Given the description of an element on the screen output the (x, y) to click on. 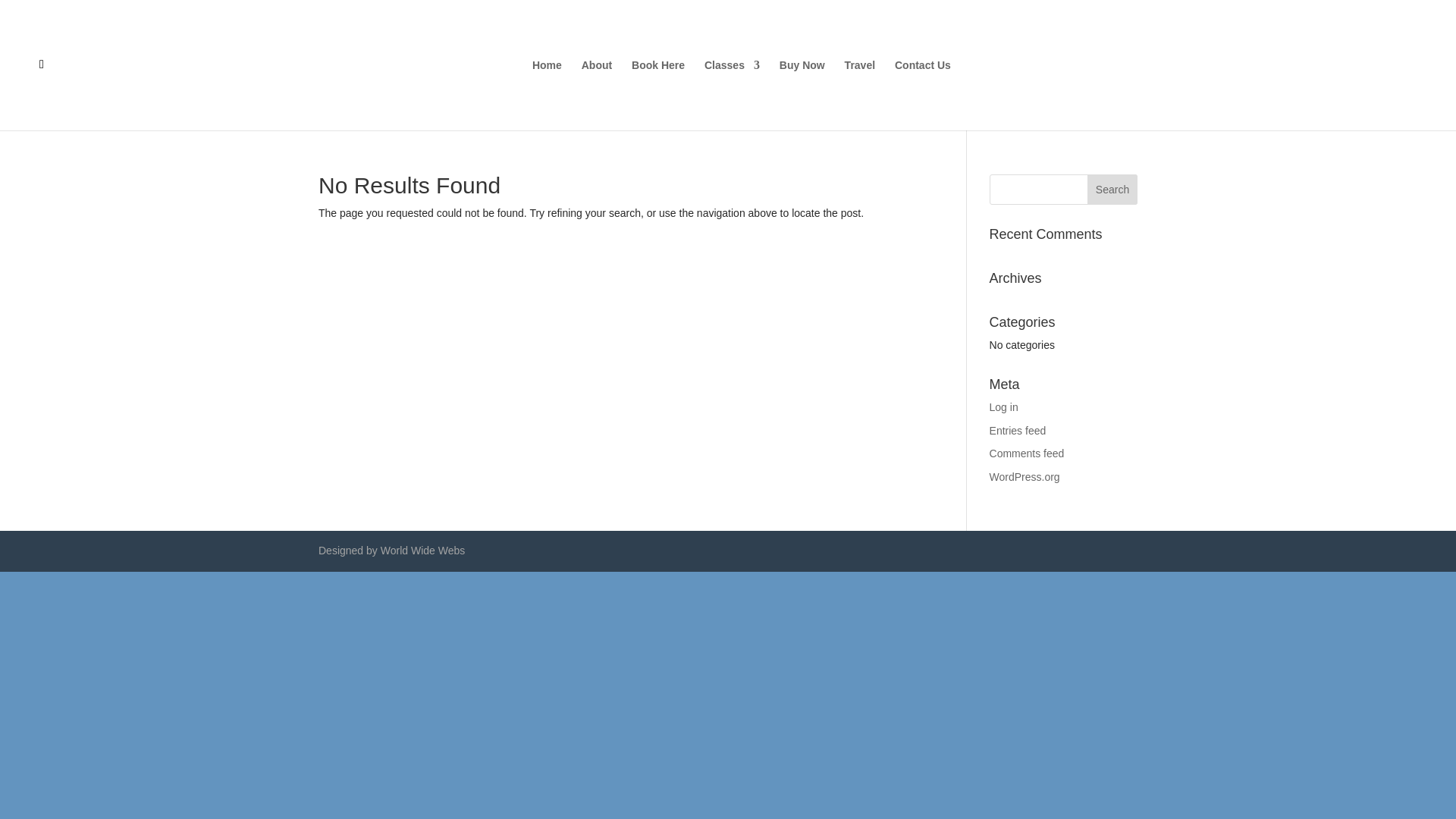
Search (1112, 189)
WordPress.org (1024, 476)
Entries feed (1018, 430)
Search (1112, 189)
Comments feed (1027, 453)
Log in (1003, 407)
